Given the description of an element on the screen output the (x, y) to click on. 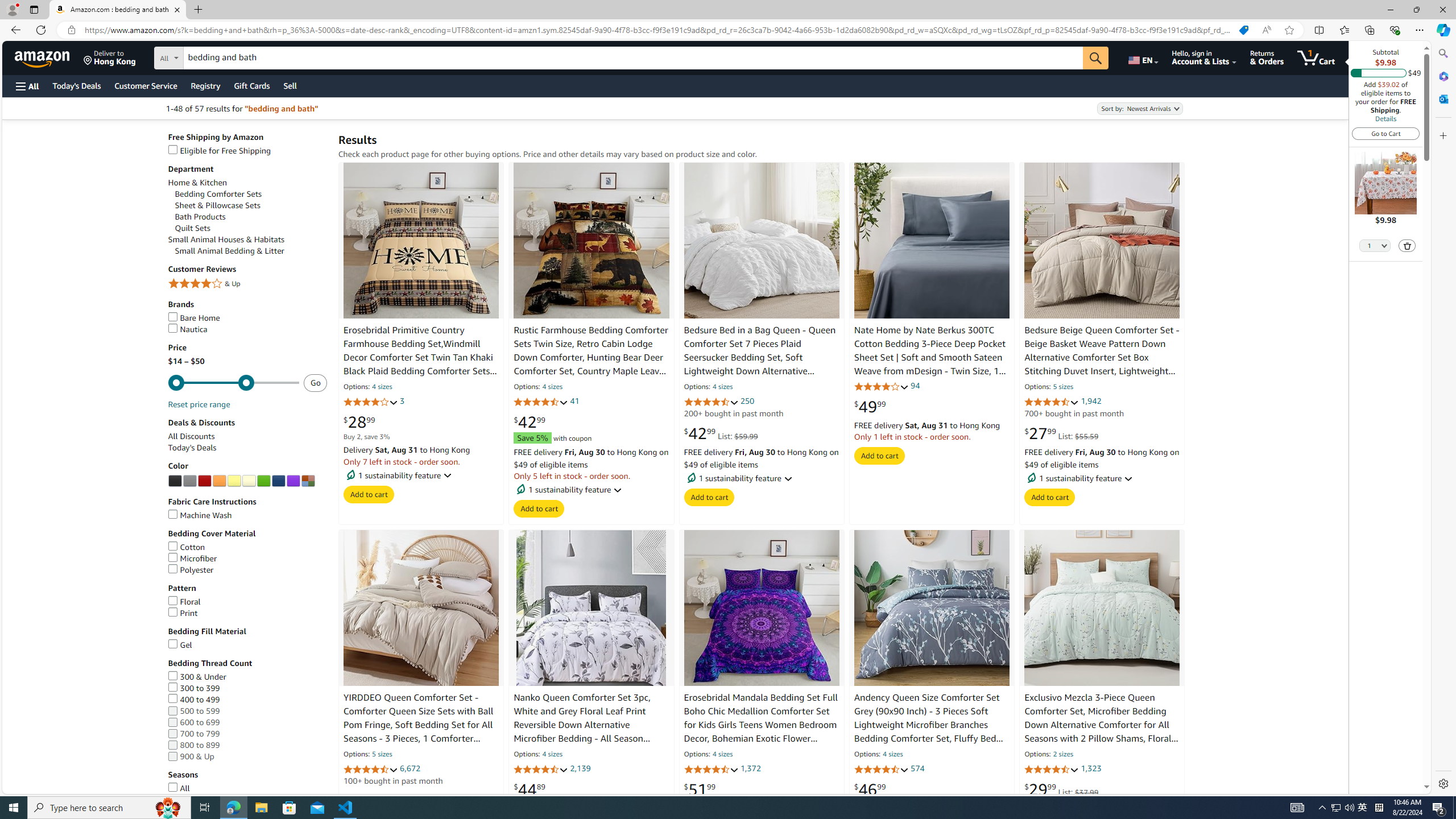
Go to Cart (1385, 133)
AutomationID: p_n_feature_twenty_browse-bin/3254105011 (218, 481)
41 (574, 401)
AutomationID: p_n_feature_twenty_browse-bin/3254103011 (204, 481)
4.3 out of 5 stars (541, 402)
Today's Deals (191, 447)
574 (917, 768)
$29.99 List: $37.99 (1062, 789)
Today's Deals (247, 447)
